Given the description of an element on the screen output the (x, y) to click on. 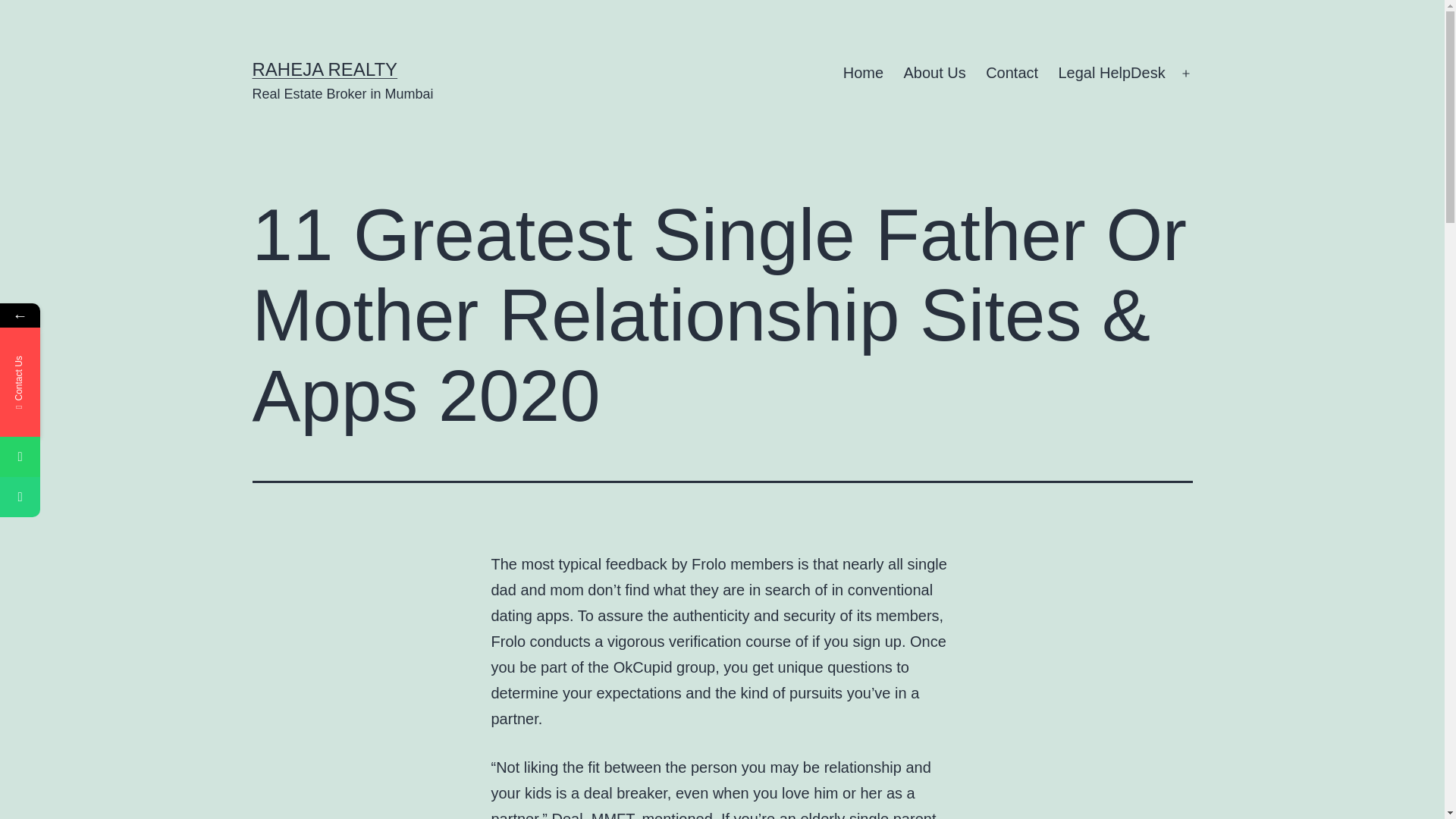
WhatsApp (92, 456)
Submit (196, 506)
Phone (92, 496)
Home (862, 73)
About Us (934, 73)
Legal HelpDesk (1111, 73)
RAHEJA REALTY (324, 68)
Contact (1011, 73)
